Given the description of an element on the screen output the (x, y) to click on. 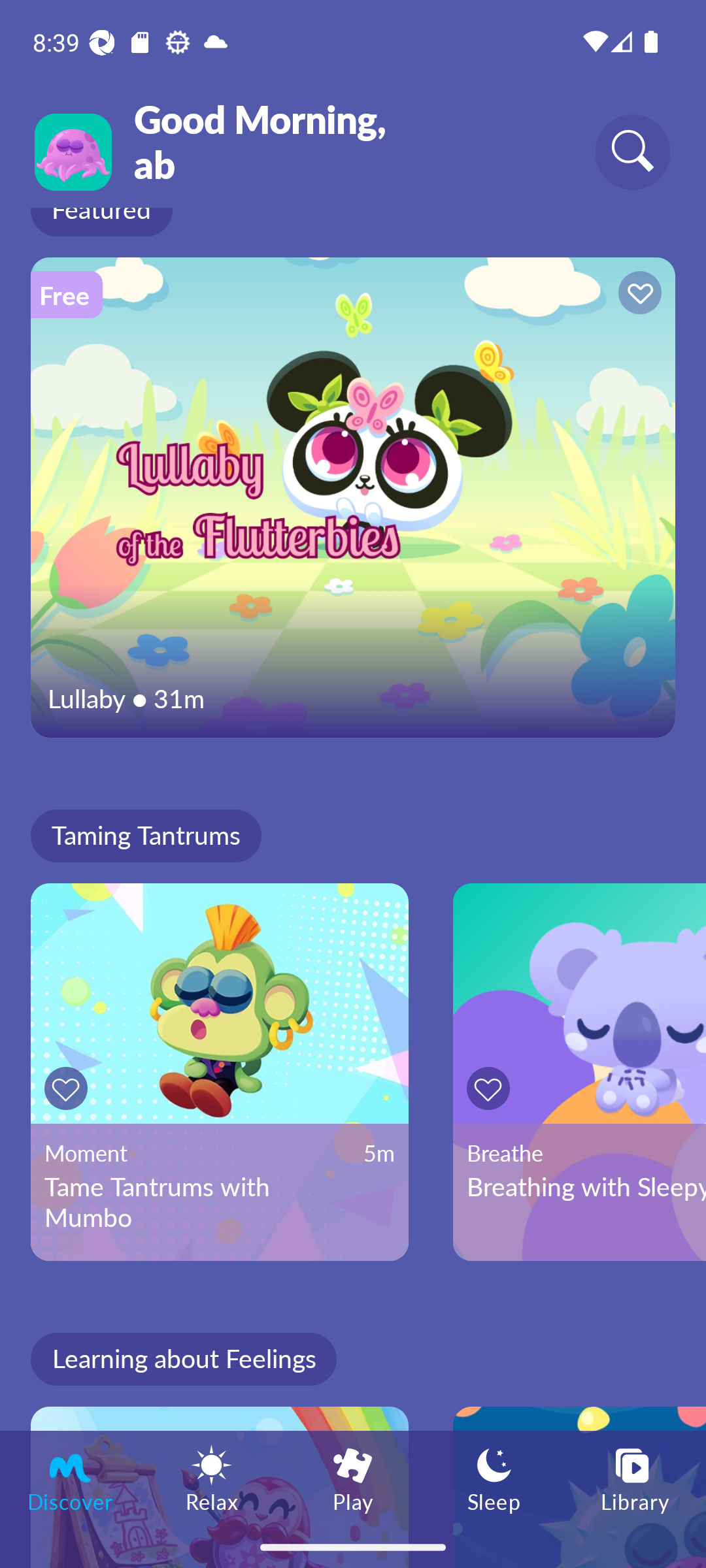
Search (632, 151)
Featured Content Free Button Lullaby ● 31m (352, 496)
Button (636, 295)
Button (69, 1087)
Button (491, 1087)
Relax (211, 1478)
Play (352, 1478)
Sleep (493, 1478)
Library (635, 1478)
